Given the description of an element on the screen output the (x, y) to click on. 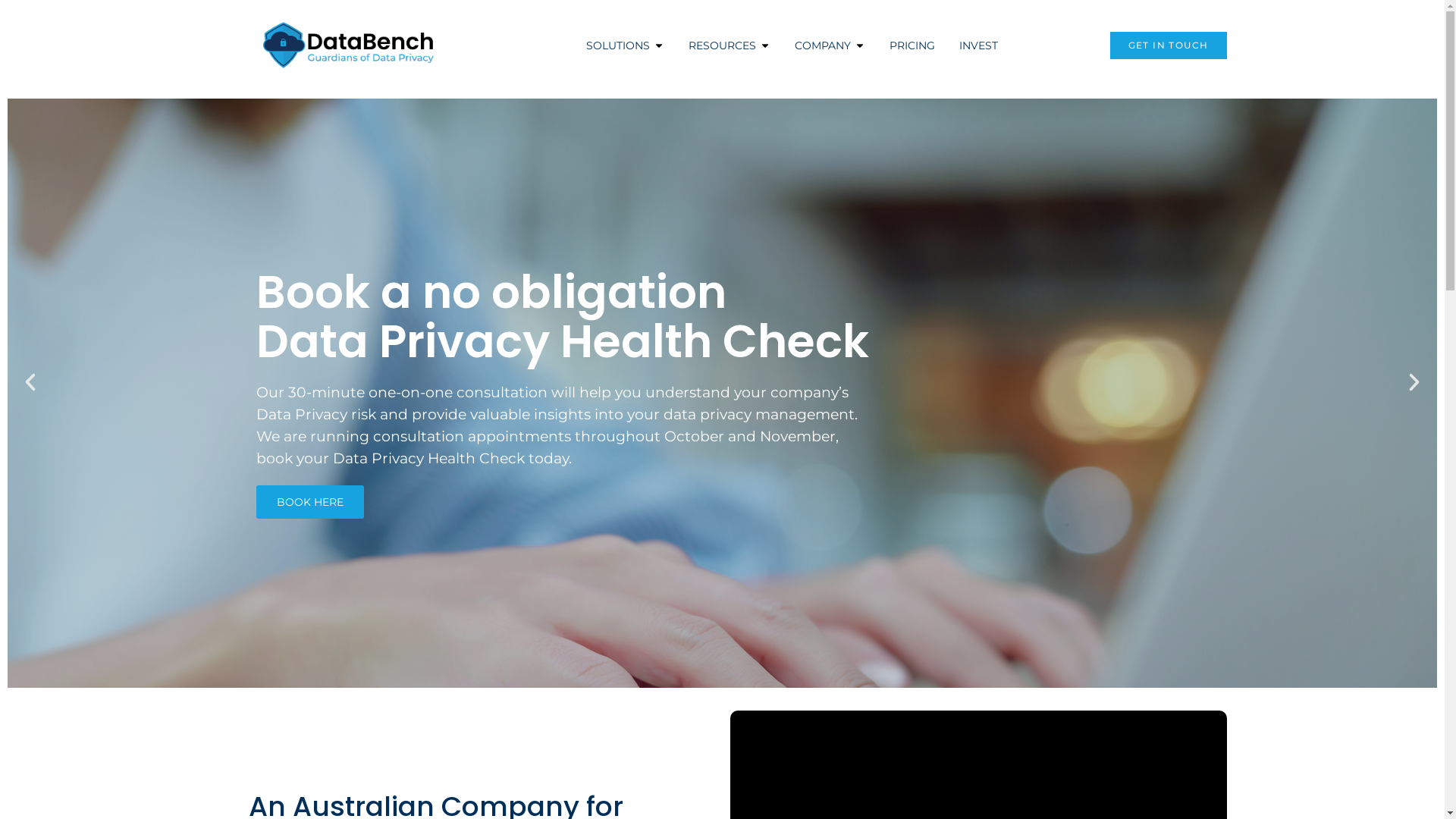
BOOK HERE Element type: text (310, 501)
INVEST Element type: text (978, 45)
Primary Horizontal Logo Element type: hover (350, 45)
GET IN TOUCH Element type: text (1168, 45)
PRICING Element type: text (912, 45)
